Given the description of an element on the screen output the (x, y) to click on. 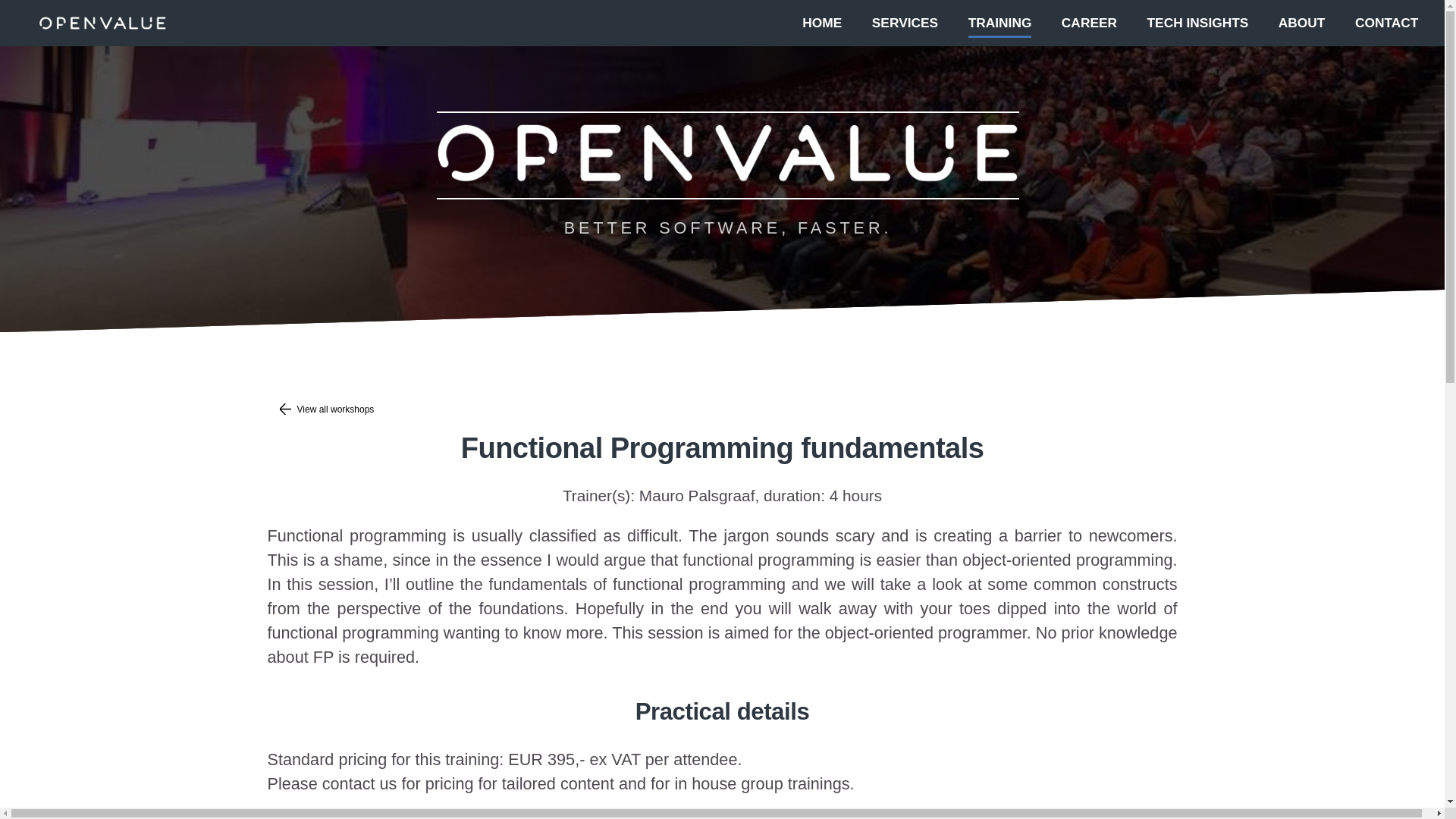
CONTACT (1386, 20)
SERVICES (904, 20)
ABOUT (1301, 20)
TECH INSIGHTS (1198, 20)
TRAINING (1000, 20)
HOME (821, 20)
View all workshops (721, 409)
CAREER (1088, 20)
